Given the description of an element on the screen output the (x, y) to click on. 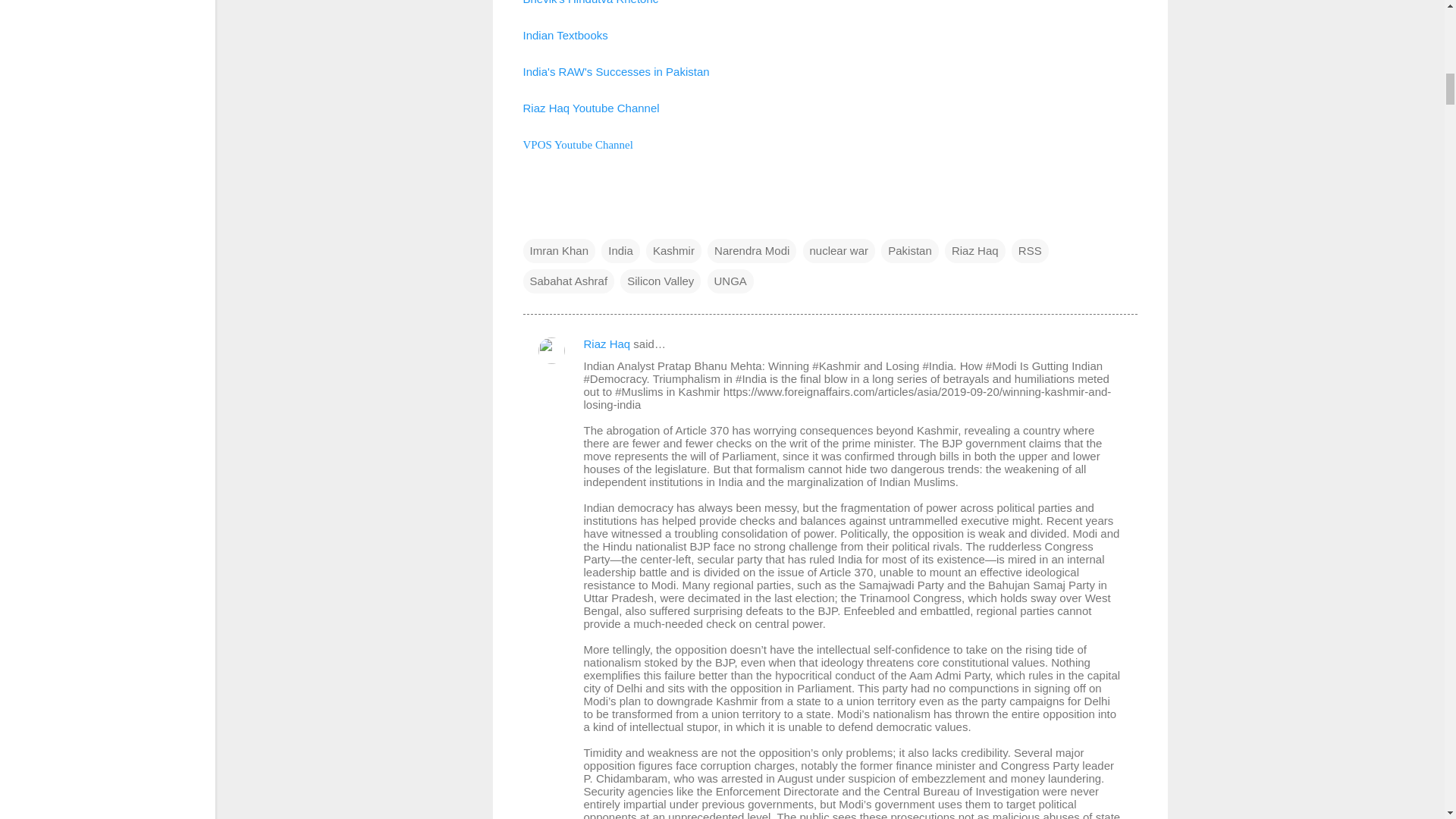
Kashmir (673, 250)
Narendra Modi (751, 250)
Indian Textbooks (565, 34)
Brievik's Hindutva Rhetoric (590, 2)
Email Post (531, 219)
nuclear war (838, 250)
Riaz Haq Youtube Channel (590, 107)
India (620, 250)
Imran Khan (558, 250)
India's RAW's Successes in Pakistan (616, 71)
VPOS Youtube Channel (577, 143)
